Given the description of an element on the screen output the (x, y) to click on. 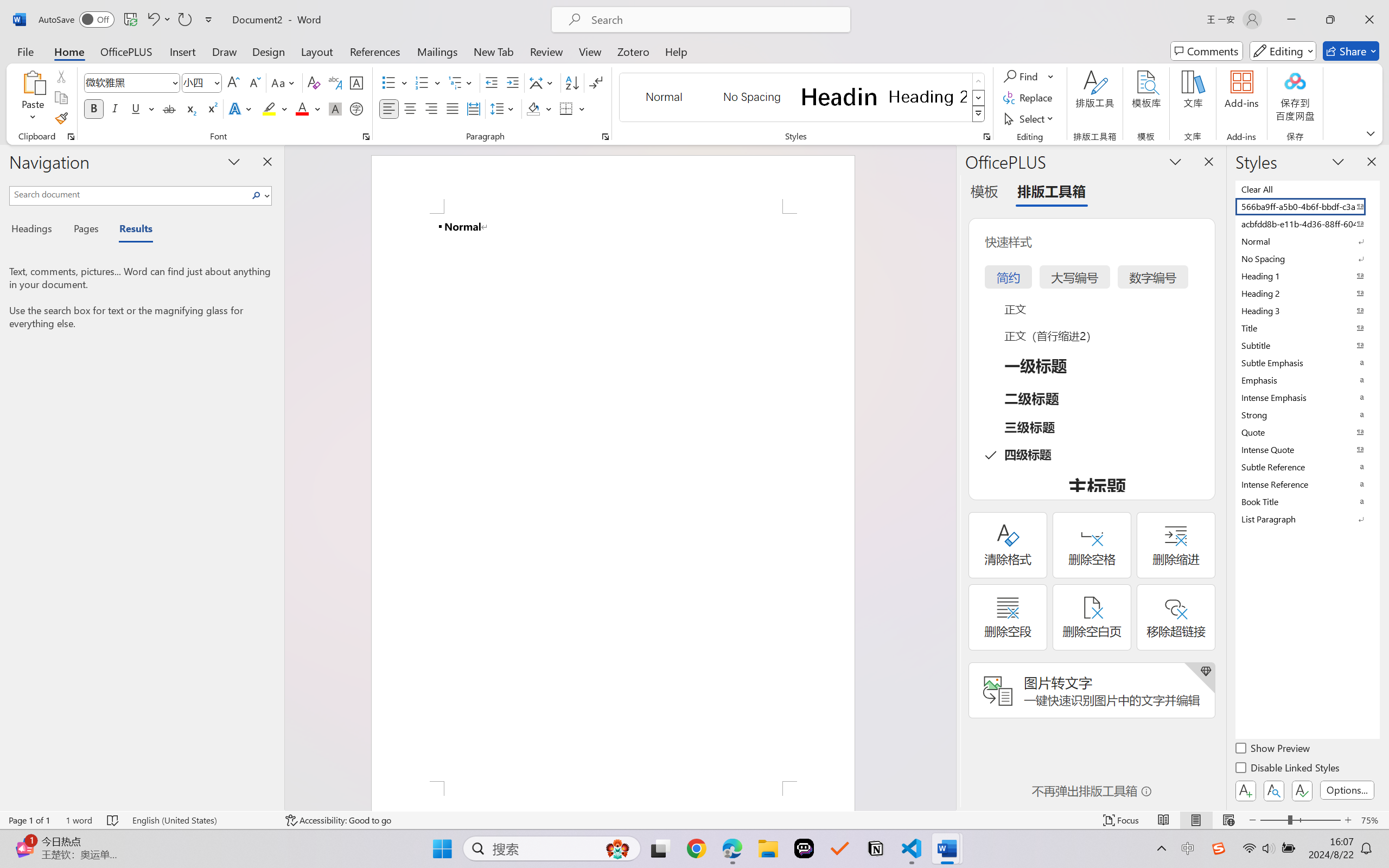
Text Highlight Color (274, 108)
Web Layout (1228, 819)
Disable Linked Styles (1287, 769)
Strong (1306, 414)
Class: Image (1218, 847)
Italic (115, 108)
Row Down (978, 97)
Font Size (201, 82)
Office Clipboard... (70, 136)
